Given the description of an element on the screen output the (x, y) to click on. 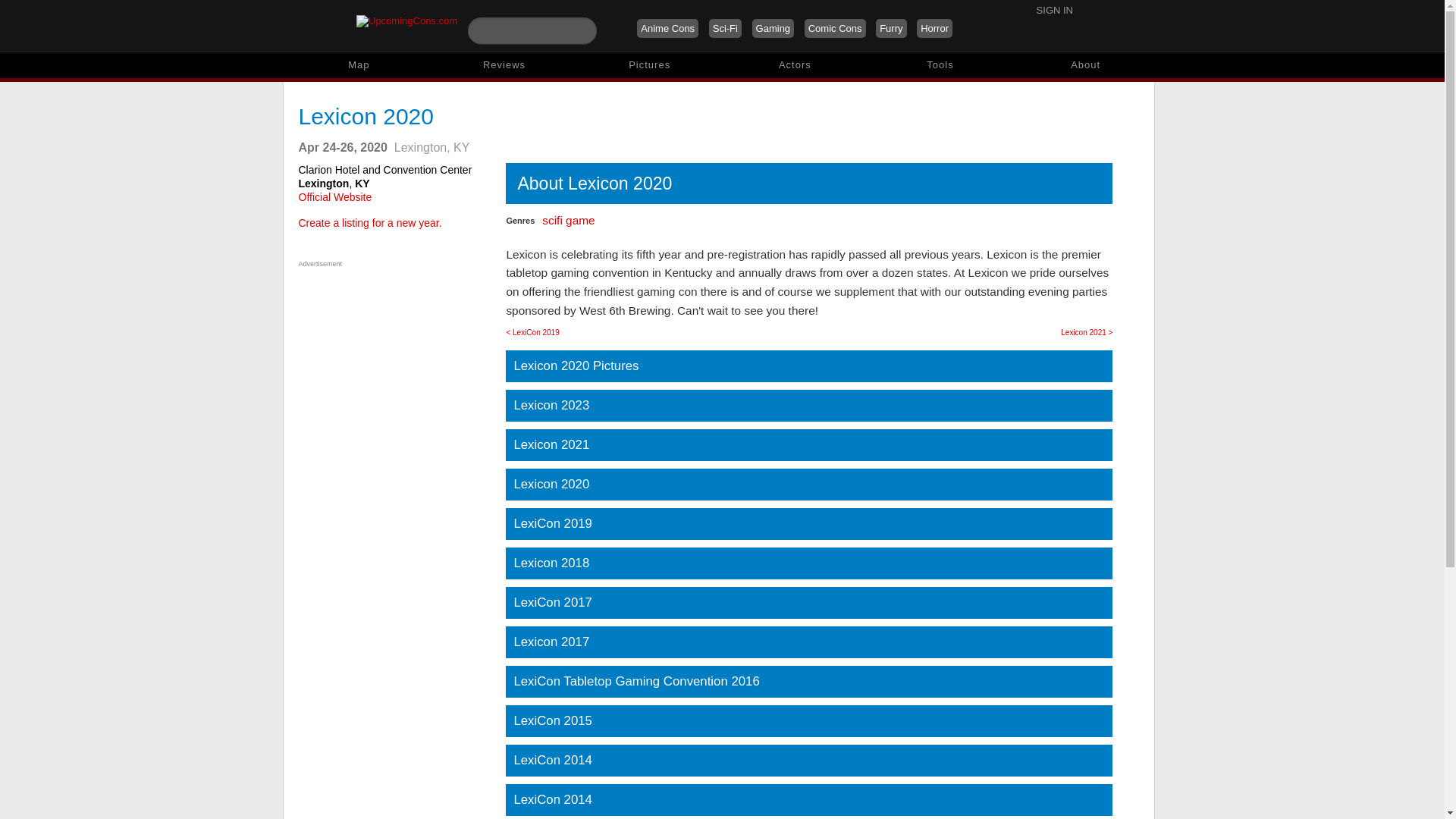
Create a listing for a new year. (370, 223)
Tools (940, 64)
Lexicon 2020 Pictures (808, 366)
About (1085, 64)
LexiCon 2017 (808, 603)
Actors (794, 64)
Horror (934, 27)
Gaming (773, 27)
Furry (890, 27)
Anime Cons (667, 27)
Pictures (649, 64)
Lexicon 2020 (808, 484)
LexiCon 2019 (808, 523)
LexiCon 2014 (808, 760)
Lexicon 2021 (808, 445)
